Given the description of an element on the screen output the (x, y) to click on. 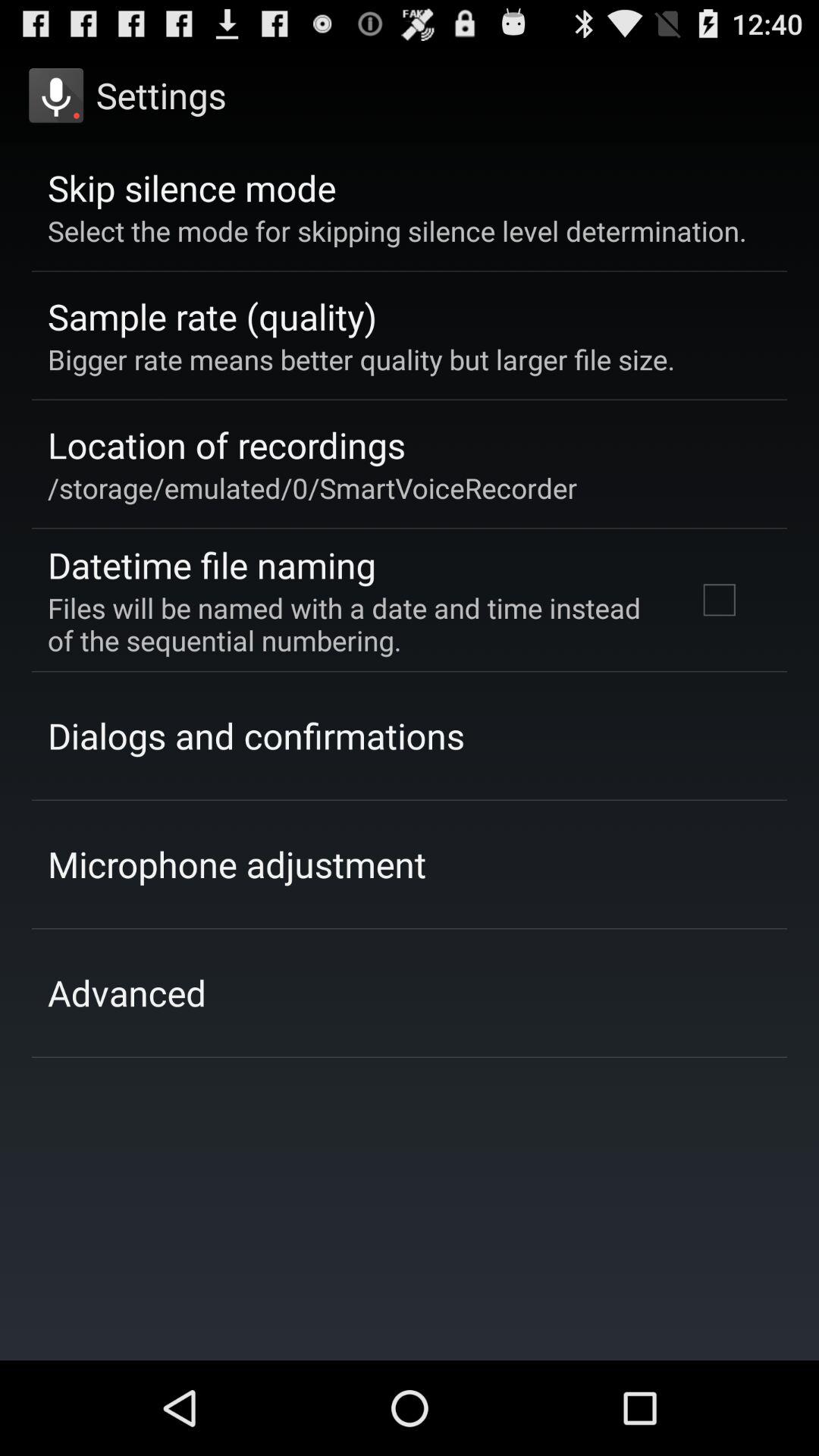
turn off the bigger rate means app (361, 359)
